Given the description of an element on the screen output the (x, y) to click on. 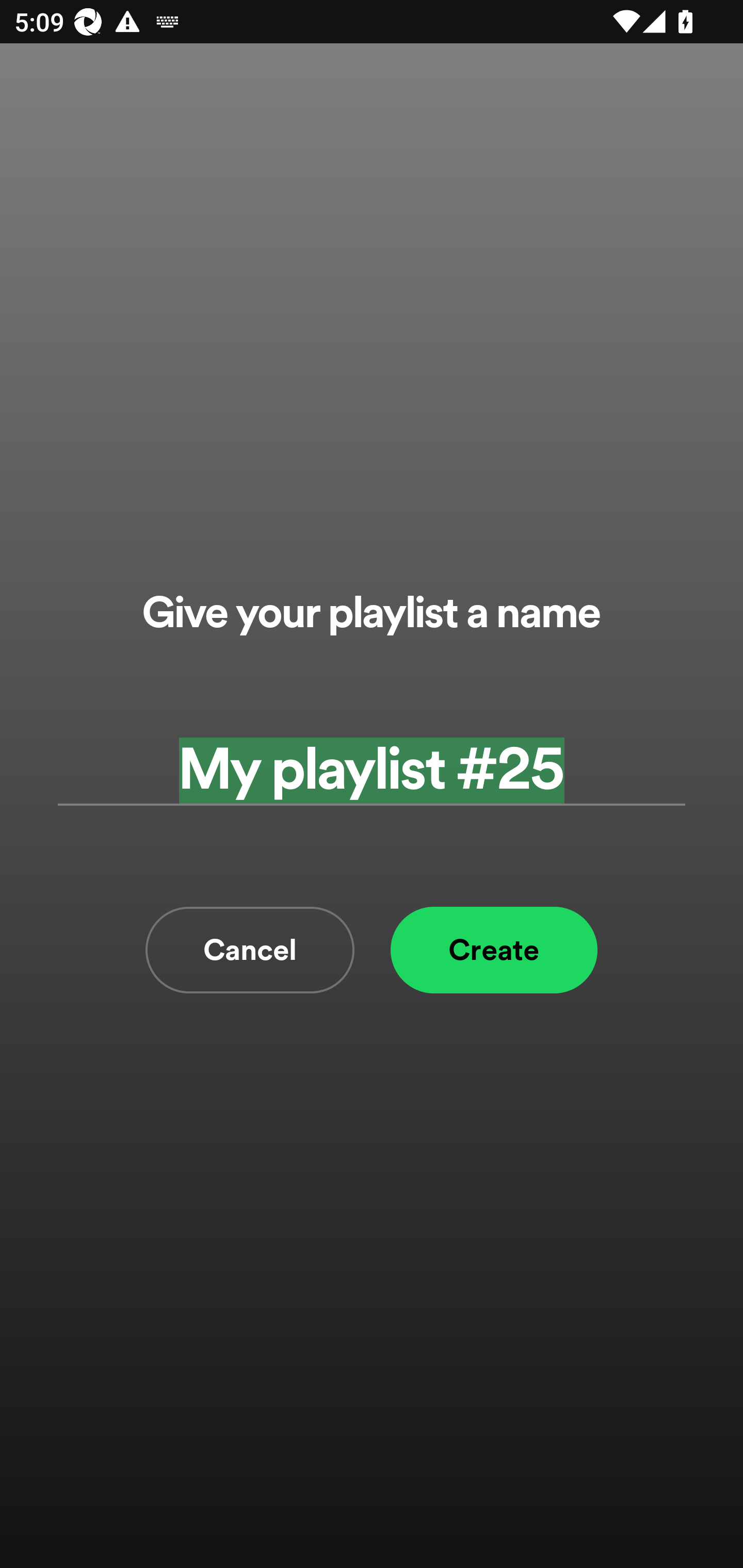
My playlist #25 Add a playlist name (371, 769)
Cancel (249, 950)
Create (493, 950)
